Given the description of an element on the screen output the (x, y) to click on. 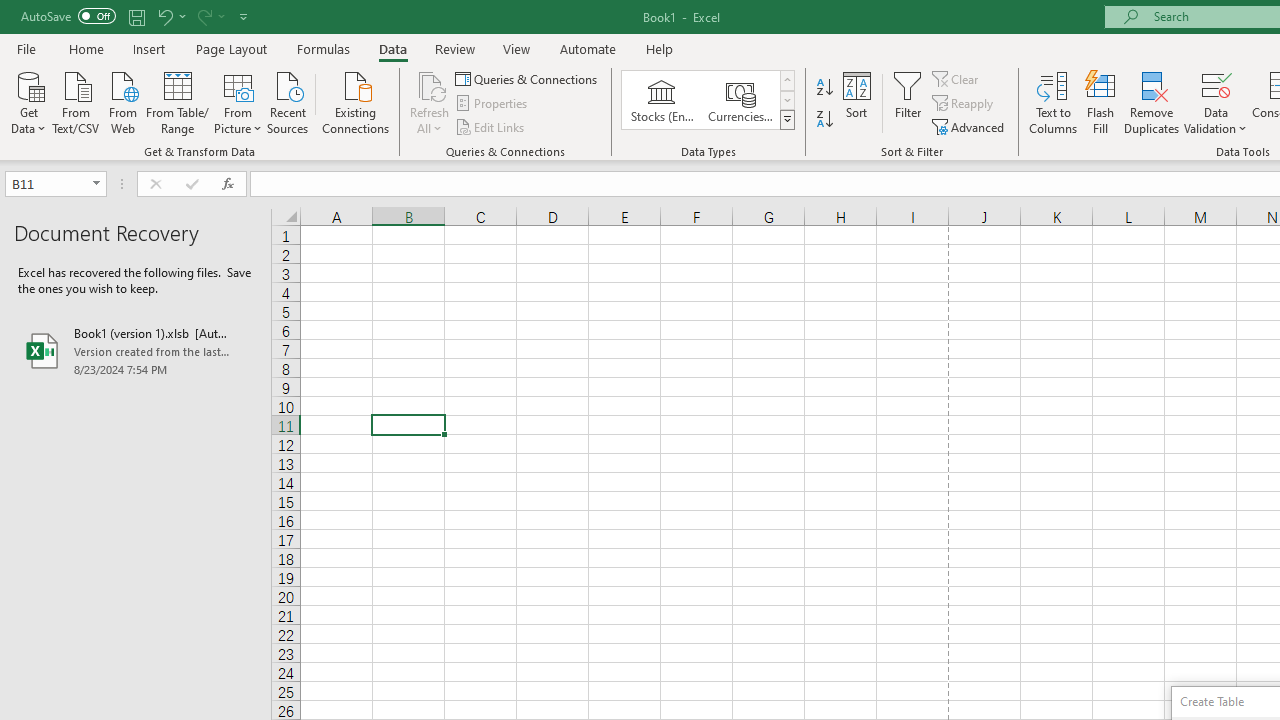
Open (96, 183)
Automate (588, 48)
View (517, 48)
Data (392, 48)
Undo (164, 15)
Undo (170, 15)
From Picture (238, 101)
Redo (203, 15)
Page Layout (230, 48)
From Web (122, 101)
